Given the description of an element on the screen output the (x, y) to click on. 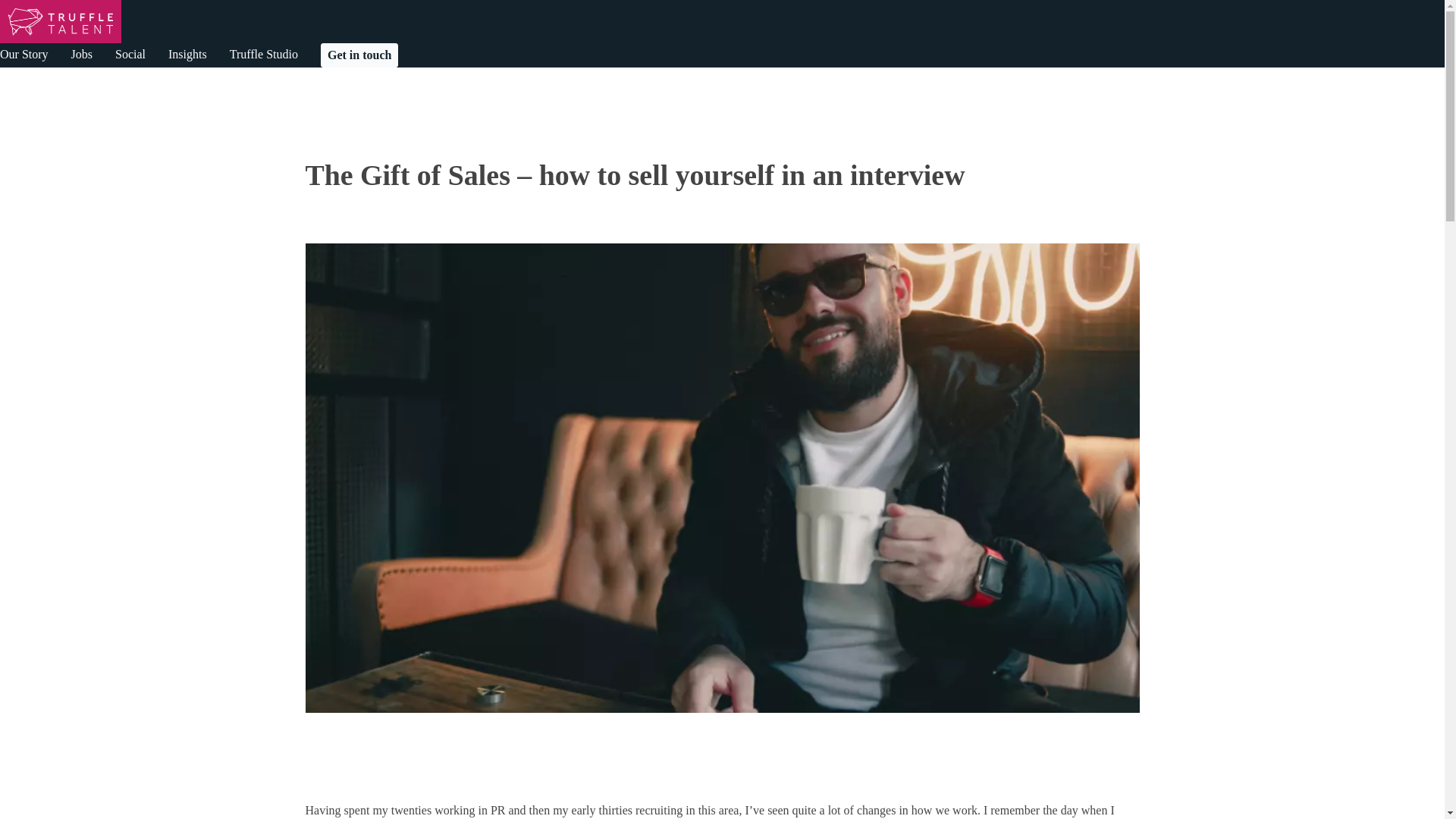
Get in touch (358, 54)
Social (130, 53)
Truffle Studio (264, 53)
Insights (187, 53)
Our Story (24, 53)
Jobs (82, 53)
